Given the description of an element on the screen output the (x, y) to click on. 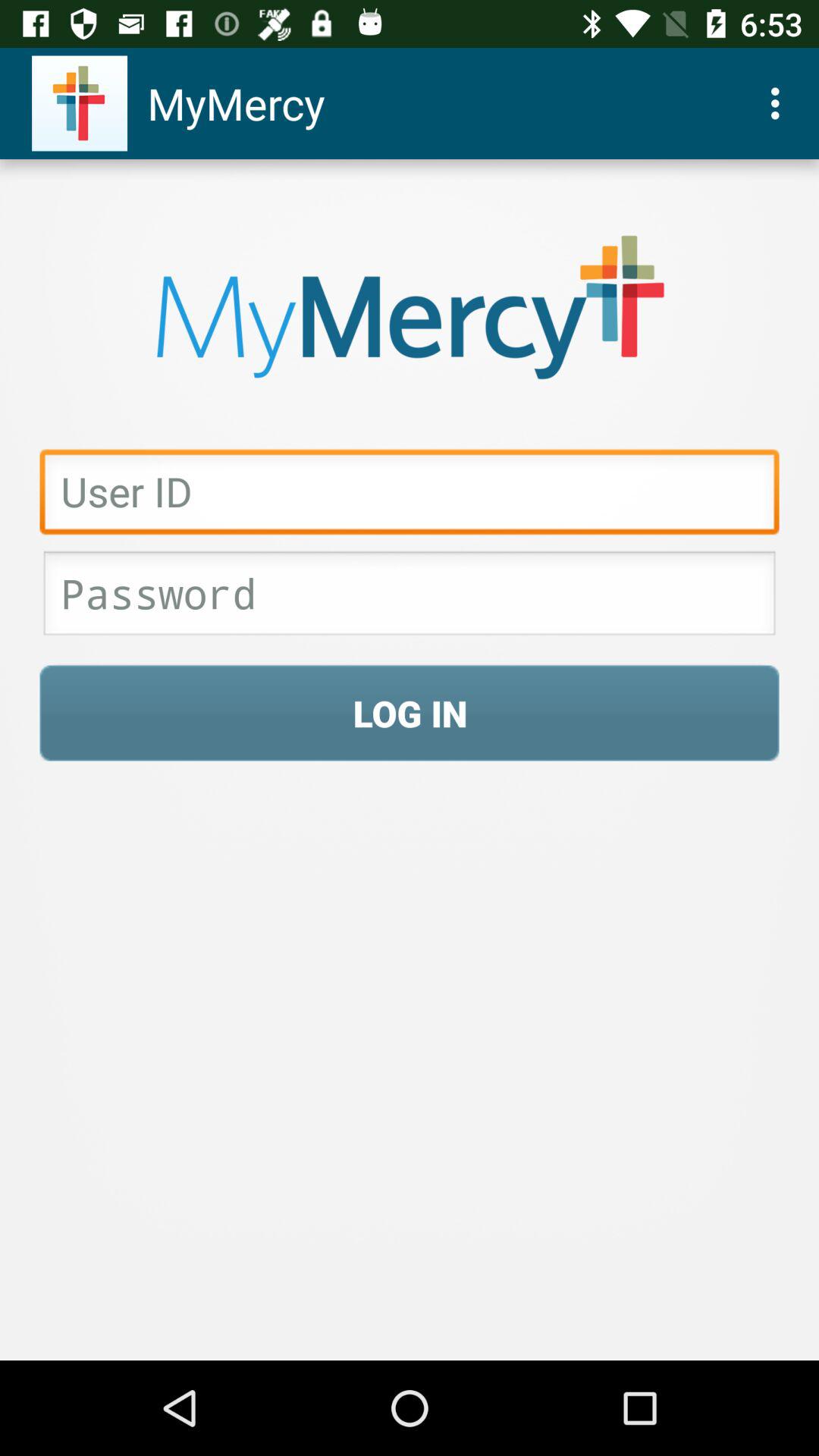
turn on icon above log in (409, 597)
